Given the description of an element on the screen output the (x, y) to click on. 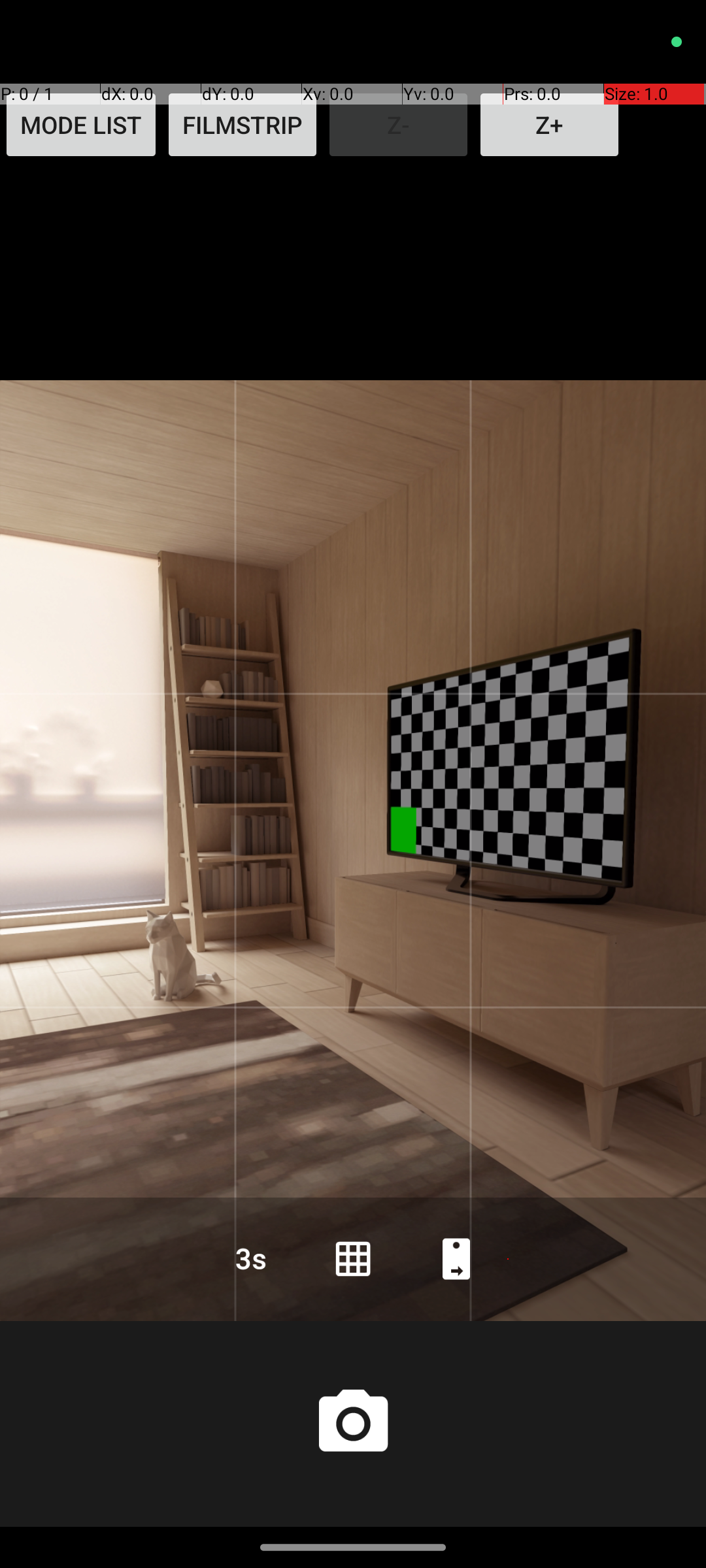
Countdown timer duration is set to 3 seconds Element type: android.widget.ImageButton (249, 1258)
Grid lines on Element type: android.widget.ImageButton (352, 1258)
Back camera Element type: android.widget.ImageButton (456, 1258)
